Given the description of an element on the screen output the (x, y) to click on. 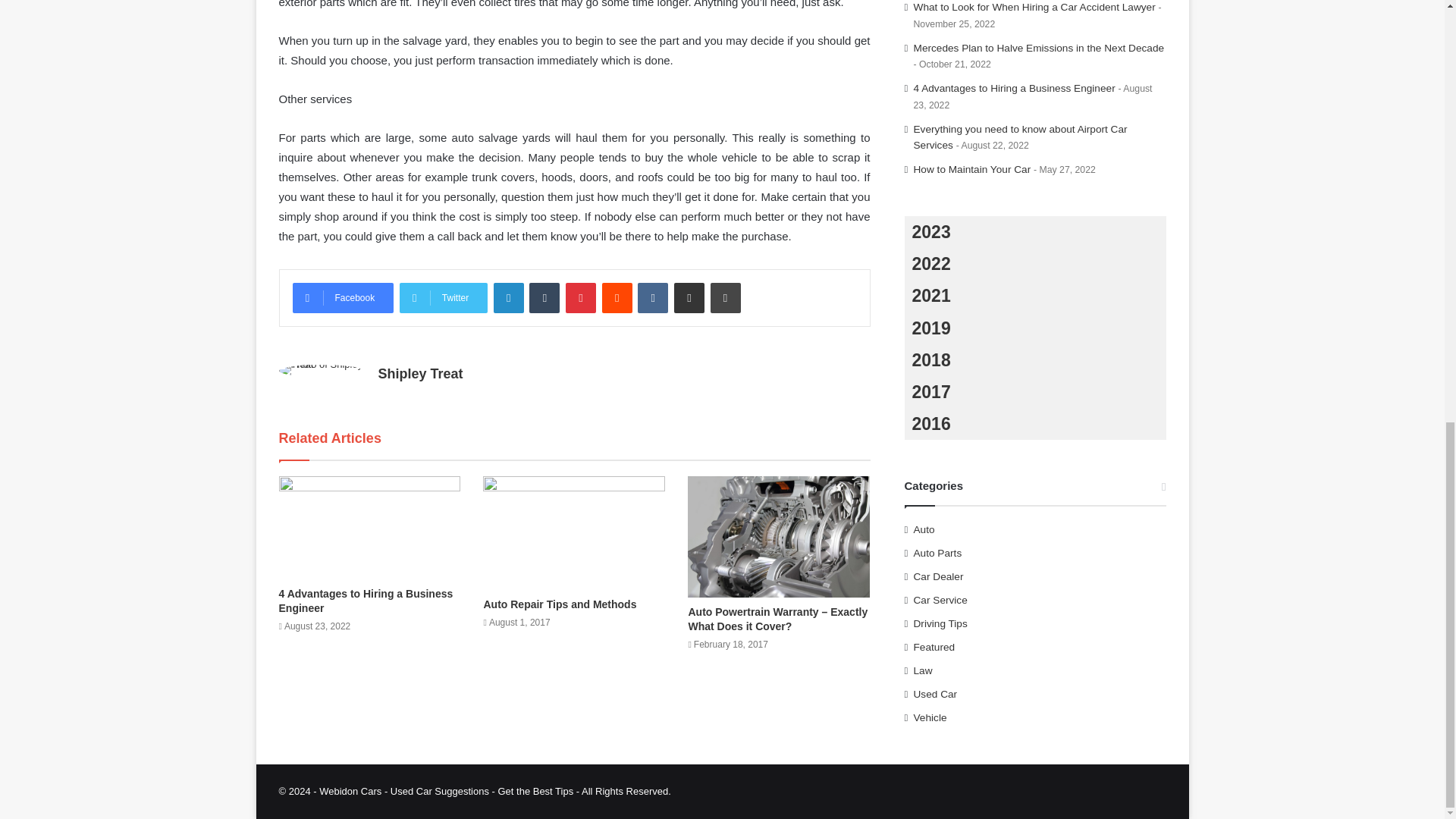
Facebook (343, 297)
Tumblr (544, 297)
Auto Repair Tips and Methods (559, 604)
Print (725, 297)
Reddit (616, 297)
LinkedIn (508, 297)
Share via Email (689, 297)
Reddit (616, 297)
Pinterest (580, 297)
Shipley Treat (420, 373)
VKontakte (652, 297)
Print (725, 297)
Pinterest (580, 297)
Tumblr (544, 297)
Twitter (442, 297)
